Given the description of an element on the screen output the (x, y) to click on. 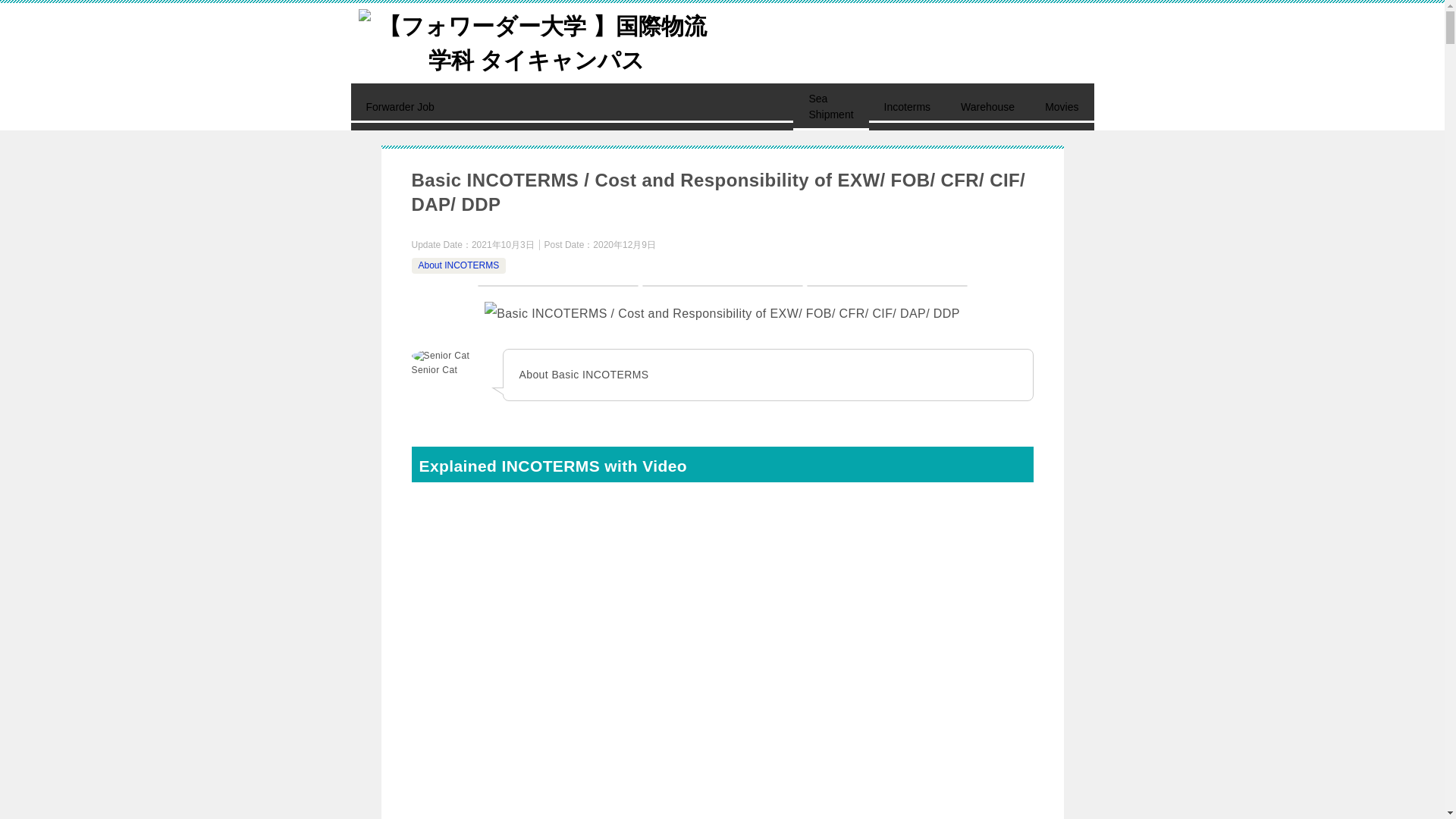
Forwarder Job (571, 106)
Sea Shipment (830, 106)
Movies (1061, 106)
Incoterms (906, 106)
Warehouse (986, 106)
About INCOTERMS (459, 265)
